Given the description of an element on the screen output the (x, y) to click on. 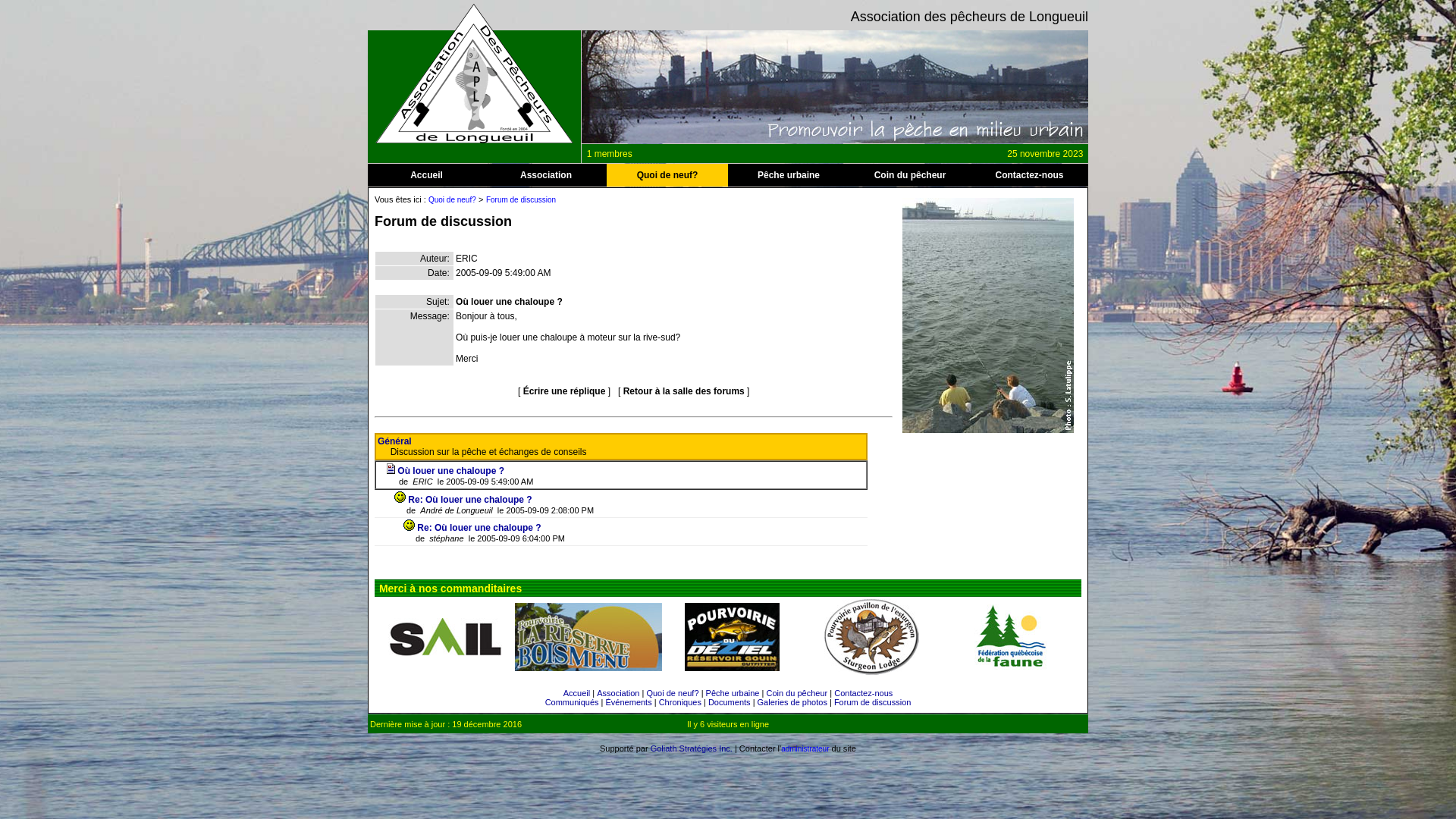
Contactez-nous Element type: text (863, 692)
Chroniques Element type: text (679, 701)
Association Element type: text (545, 174)
Quoi de neuf? Element type: text (452, 199)
Documents Element type: text (729, 701)
Galeries de photos Element type: text (792, 701)
Forum de discussion Element type: text (872, 701)
Forum de discussion Element type: text (520, 199)
Quoi de neuf? Element type: text (667, 174)
administrateur Element type: text (804, 748)
Contactez-nous Element type: text (1028, 174)
Accueil Element type: text (576, 692)
Association Element type: text (617, 692)
Quoi de neuf? Element type: text (672, 692)
Accueil Element type: text (426, 174)
